Given the description of an element on the screen output the (x, y) to click on. 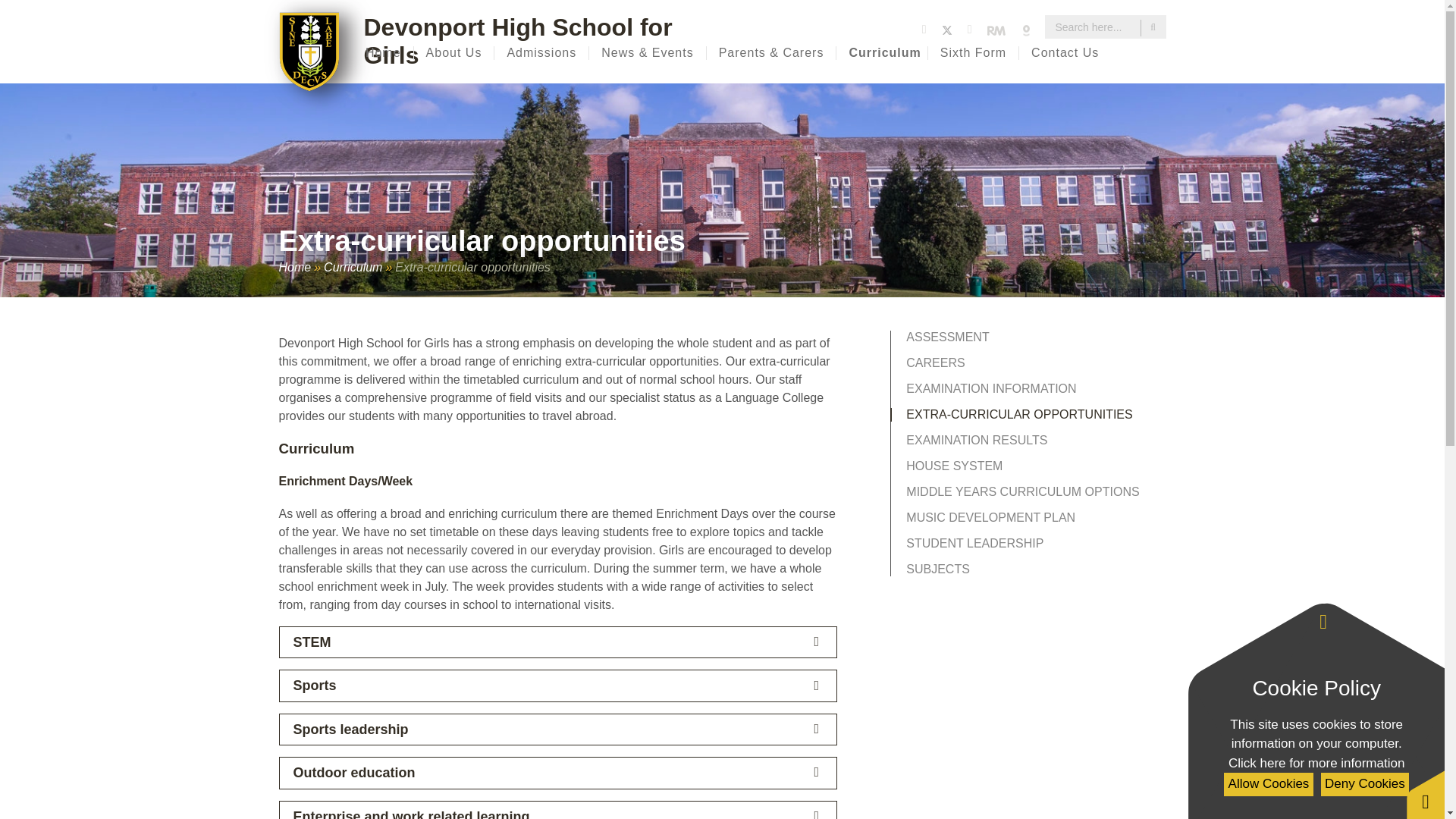
Devonport High School for Girls (497, 41)
About Us (454, 52)
Home (383, 52)
RM Unify (996, 29)
School Name Home (497, 41)
Twitter (947, 27)
